Given the description of an element on the screen output the (x, y) to click on. 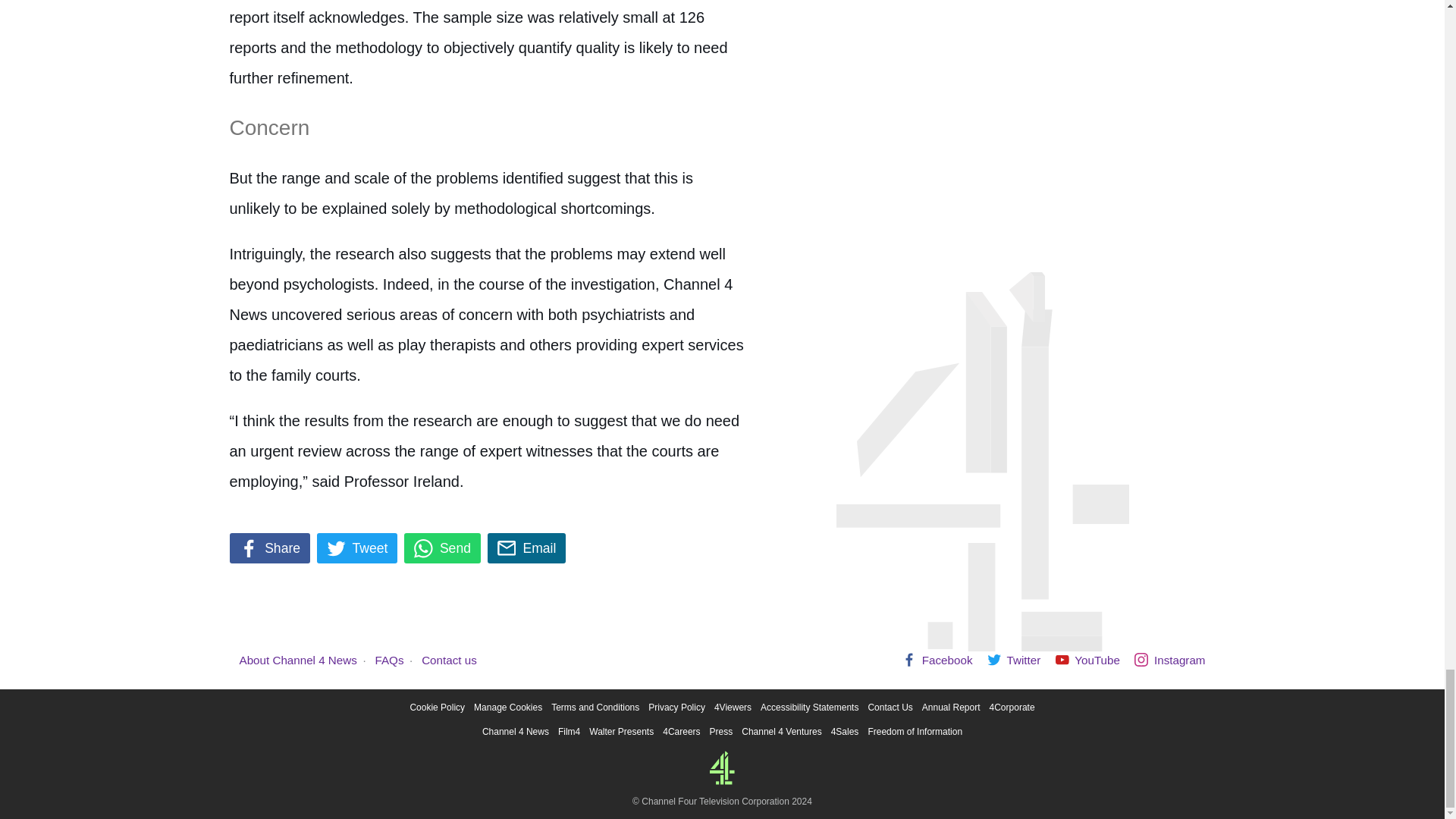
Share (269, 548)
Tweet (357, 548)
Send (442, 548)
About Channel 4 News (298, 659)
FAQs (389, 659)
Email (526, 548)
